Given the description of an element on the screen output the (x, y) to click on. 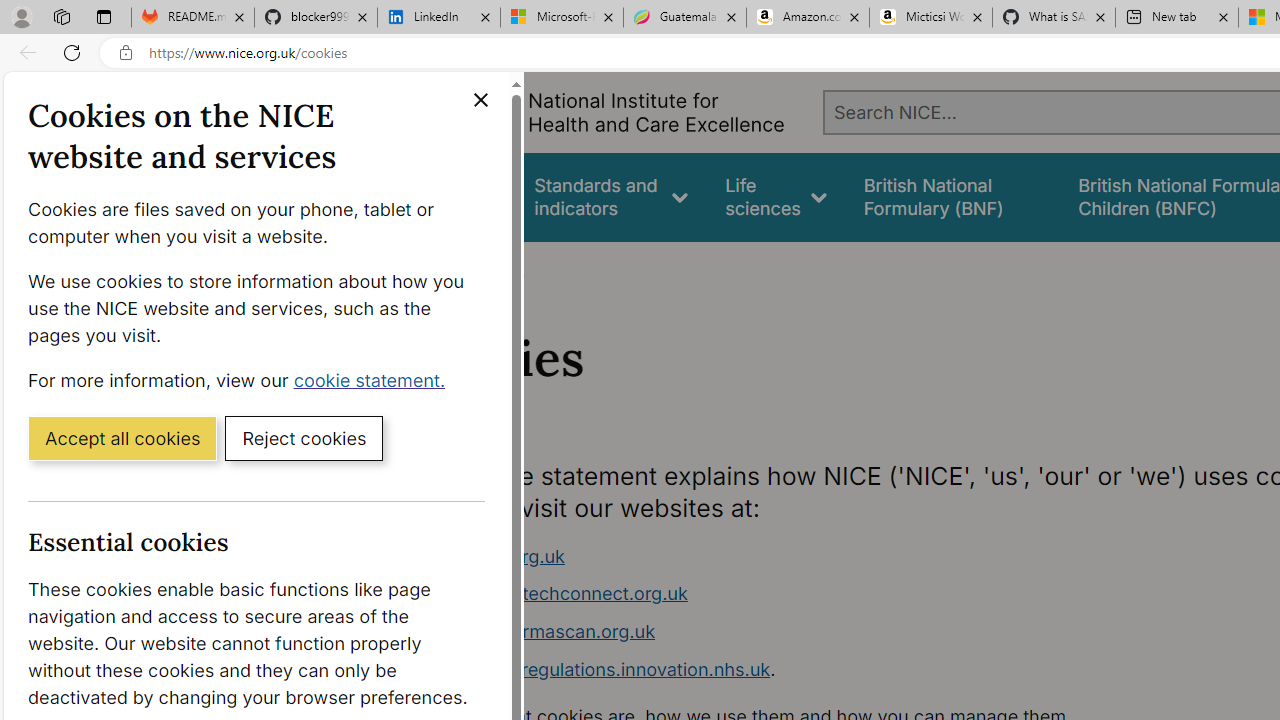
Reject cookies (304, 437)
cookie statement. (Opens in a new window) (373, 379)
About (498, 268)
Life sciences (776, 196)
About (498, 268)
www.healthtechconnect.org.uk (554, 593)
